Given the description of an element on the screen output the (x, y) to click on. 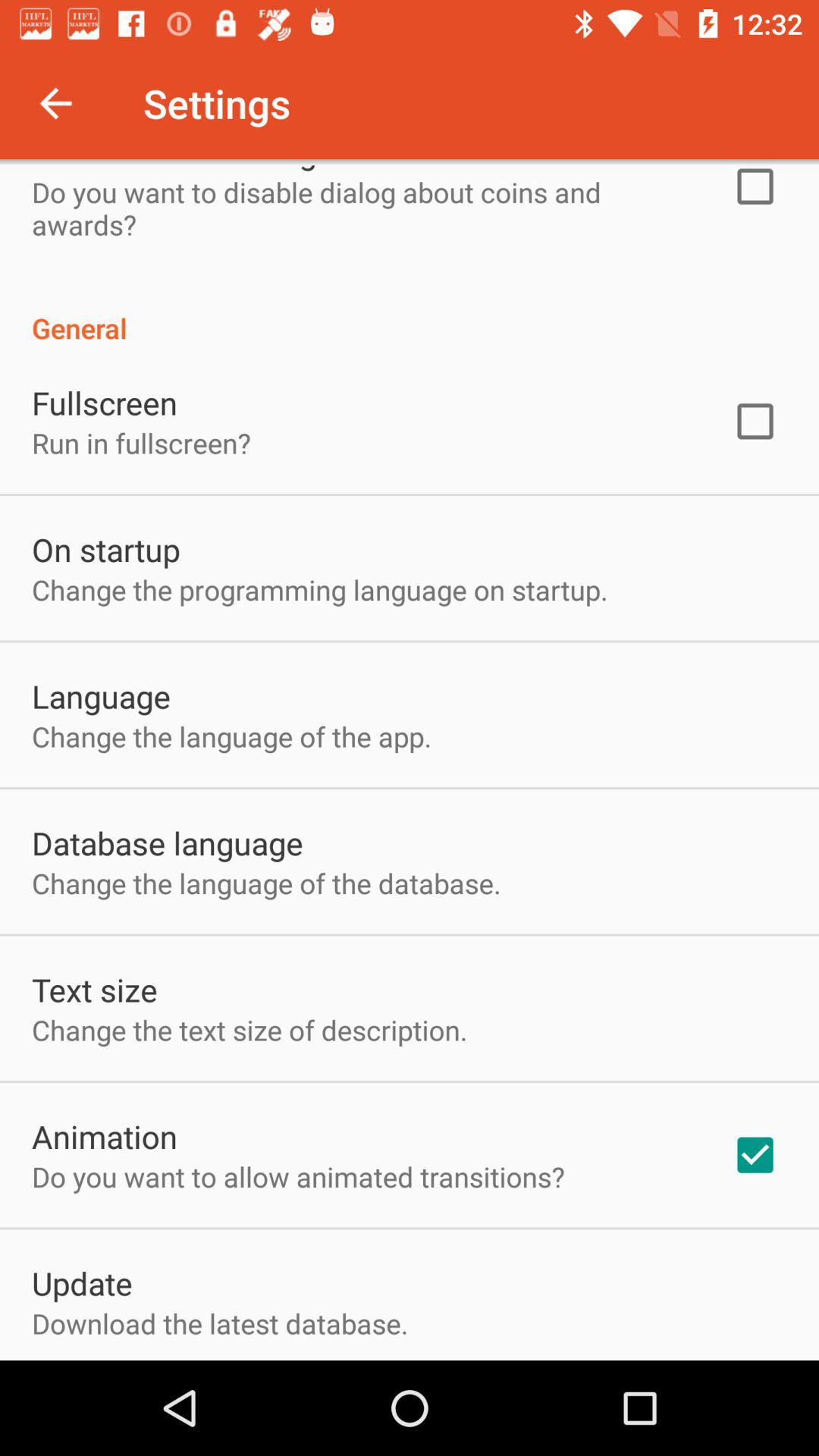
turn on run in fullscreen? icon (140, 442)
